Given the description of an element on the screen output the (x, y) to click on. 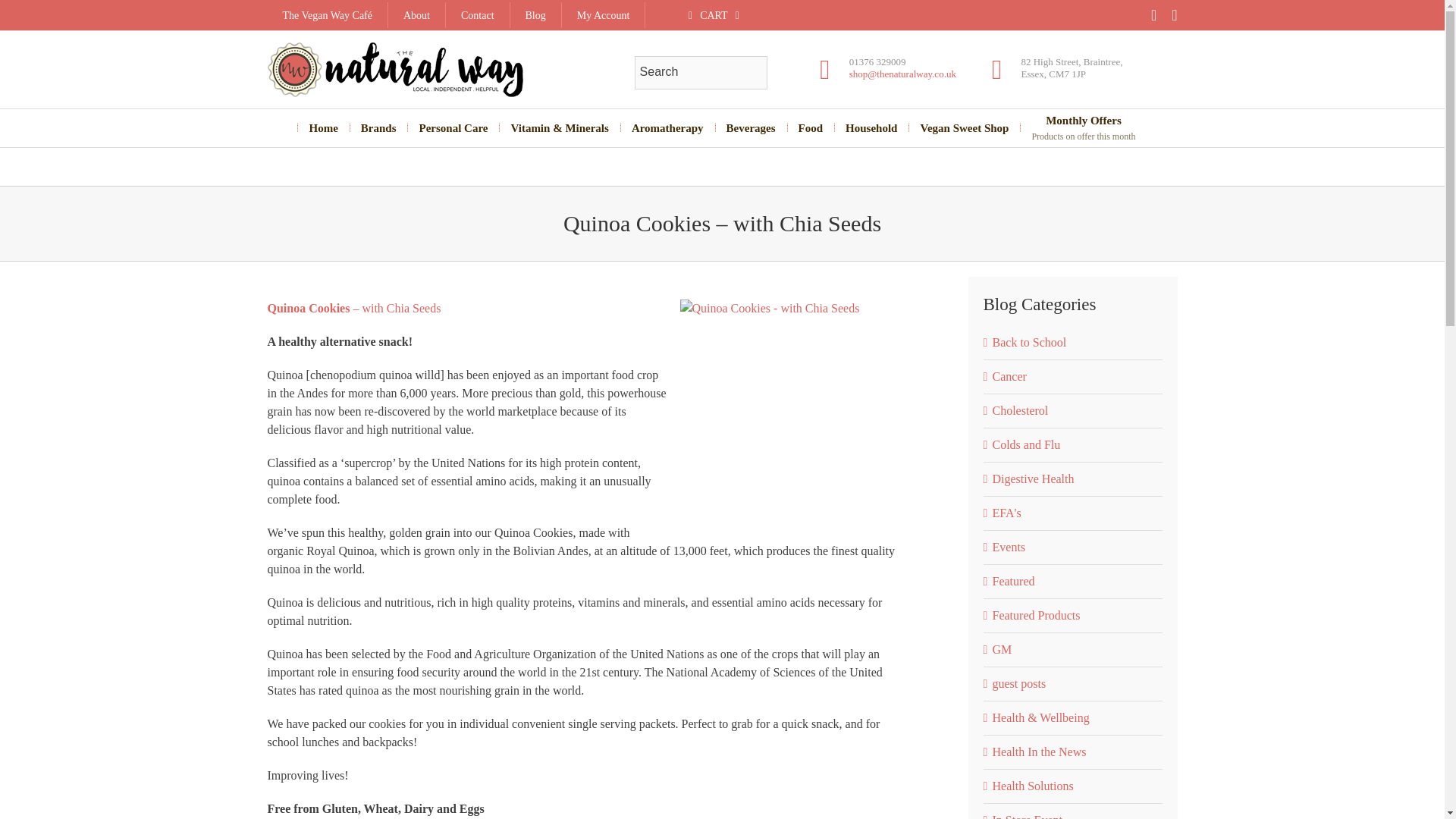
Log In (651, 170)
Brands (378, 127)
About (416, 14)
Contact (477, 14)
CART (713, 14)
My Account (603, 14)
Vegan Sweet Shop (964, 127)
Home (323, 127)
Beverages (750, 127)
Blog (1083, 127)
Food (535, 14)
Personal Care (810, 127)
Aromatherapy (453, 127)
Household (667, 127)
